Given the description of an element on the screen output the (x, y) to click on. 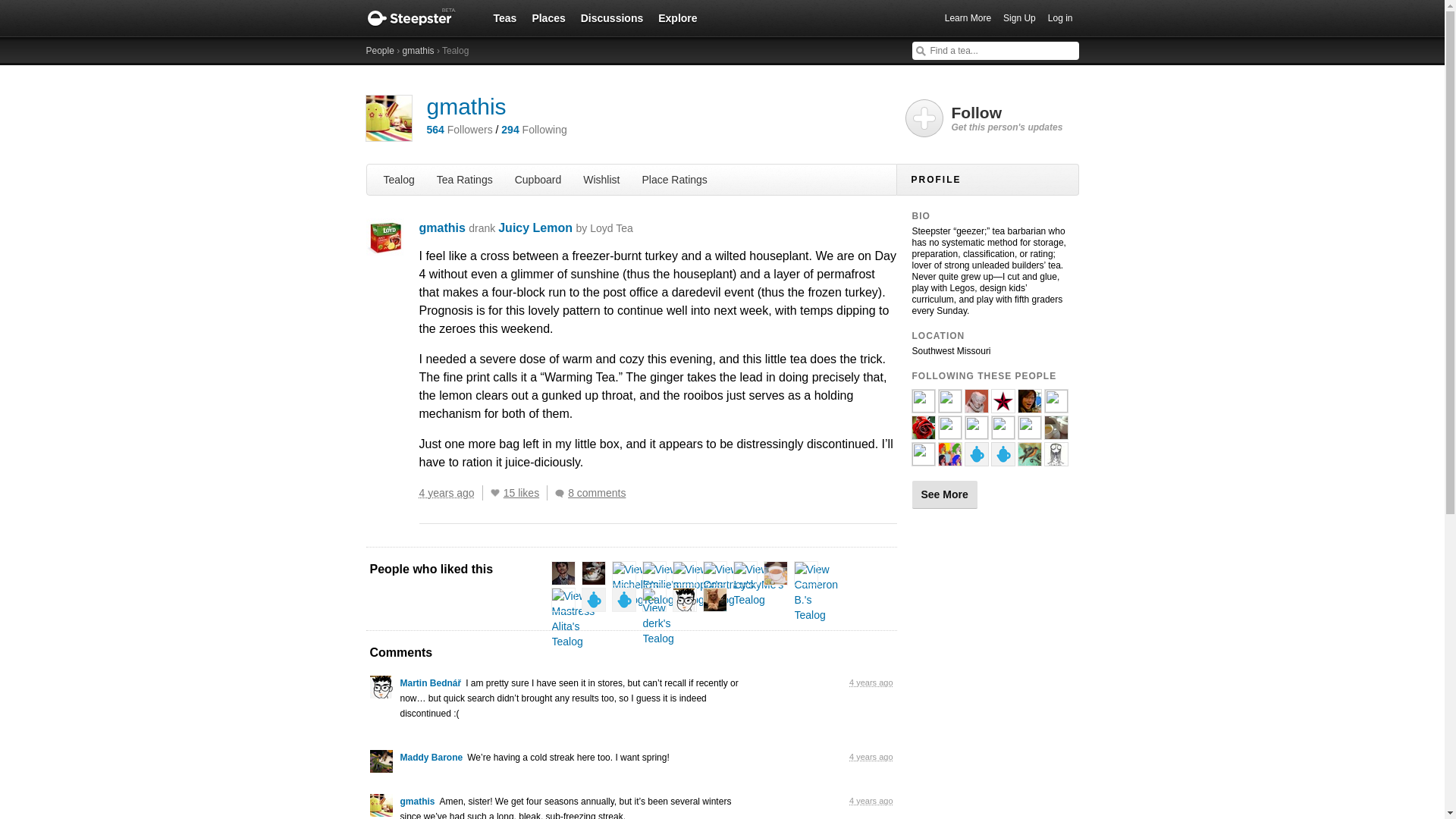
Steepster (418, 18)
Explore (677, 17)
564 Followers (459, 129)
8 comments (593, 492)
Juicy Lemon by Loyd Tea (565, 227)
Discussions (612, 17)
4 years ago (450, 492)
gmathis (441, 227)
Tealog (398, 179)
294 Following (533, 129)
